Given the description of an element on the screen output the (x, y) to click on. 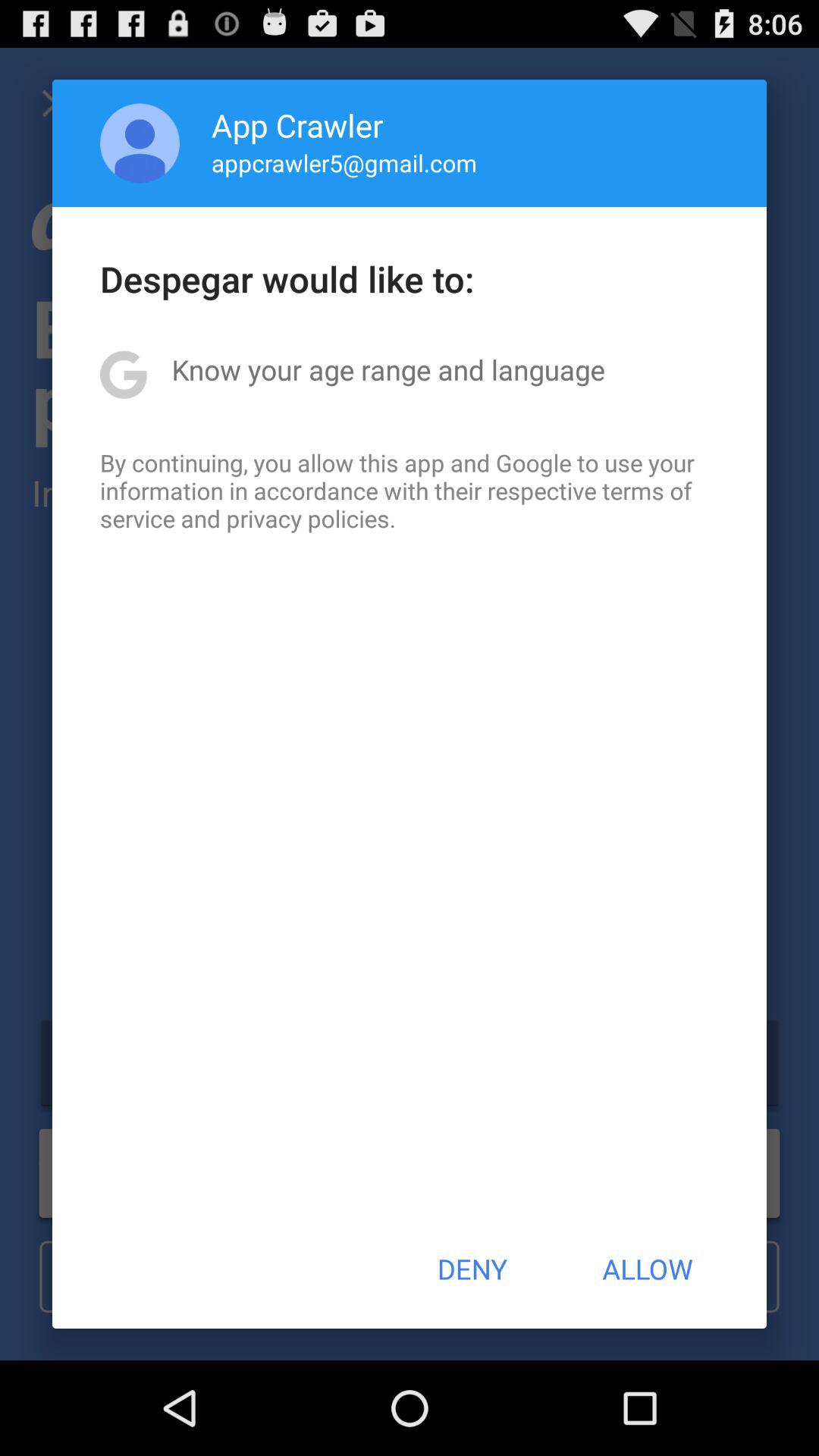
select the item to the left of app crawler app (139, 143)
